Given the description of an element on the screen output the (x, y) to click on. 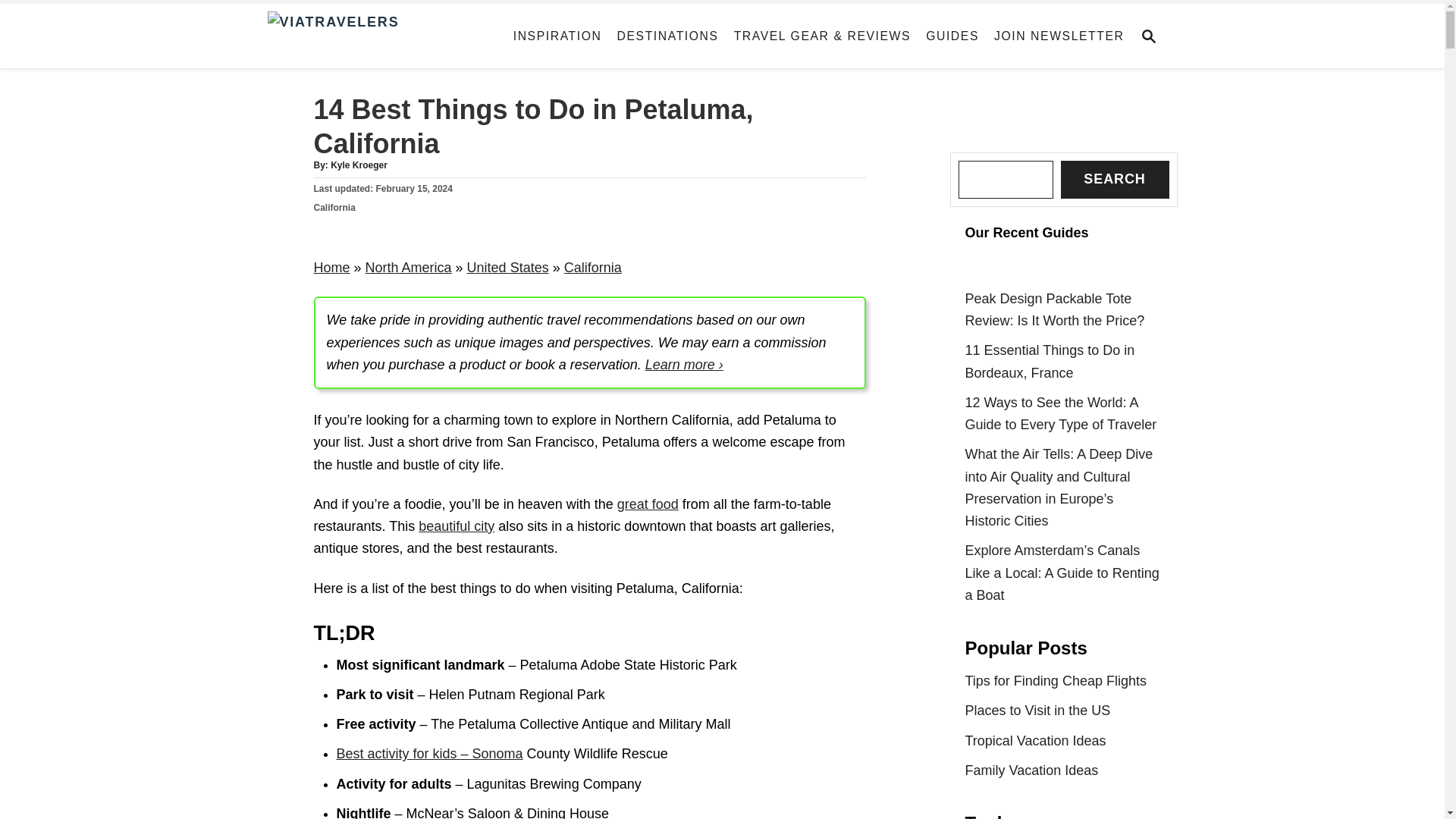
INSPIRATION (557, 36)
DESTINATIONS (668, 36)
SEARCH (1153, 36)
ViaTravelers (382, 35)
